Given the description of an element on the screen output the (x, y) to click on. 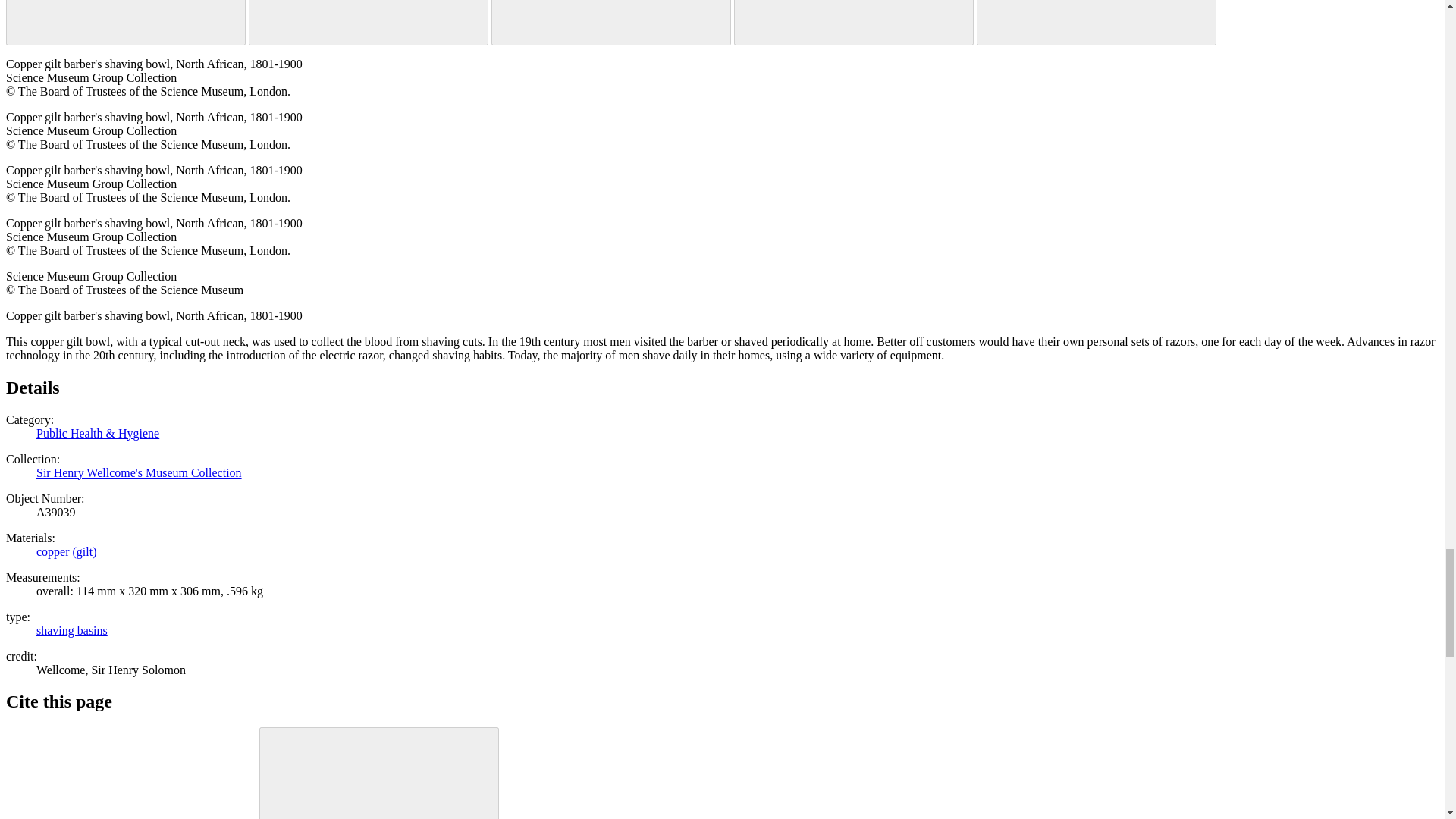
Copy citation text (379, 773)
